Given the description of an element on the screen output the (x, y) to click on. 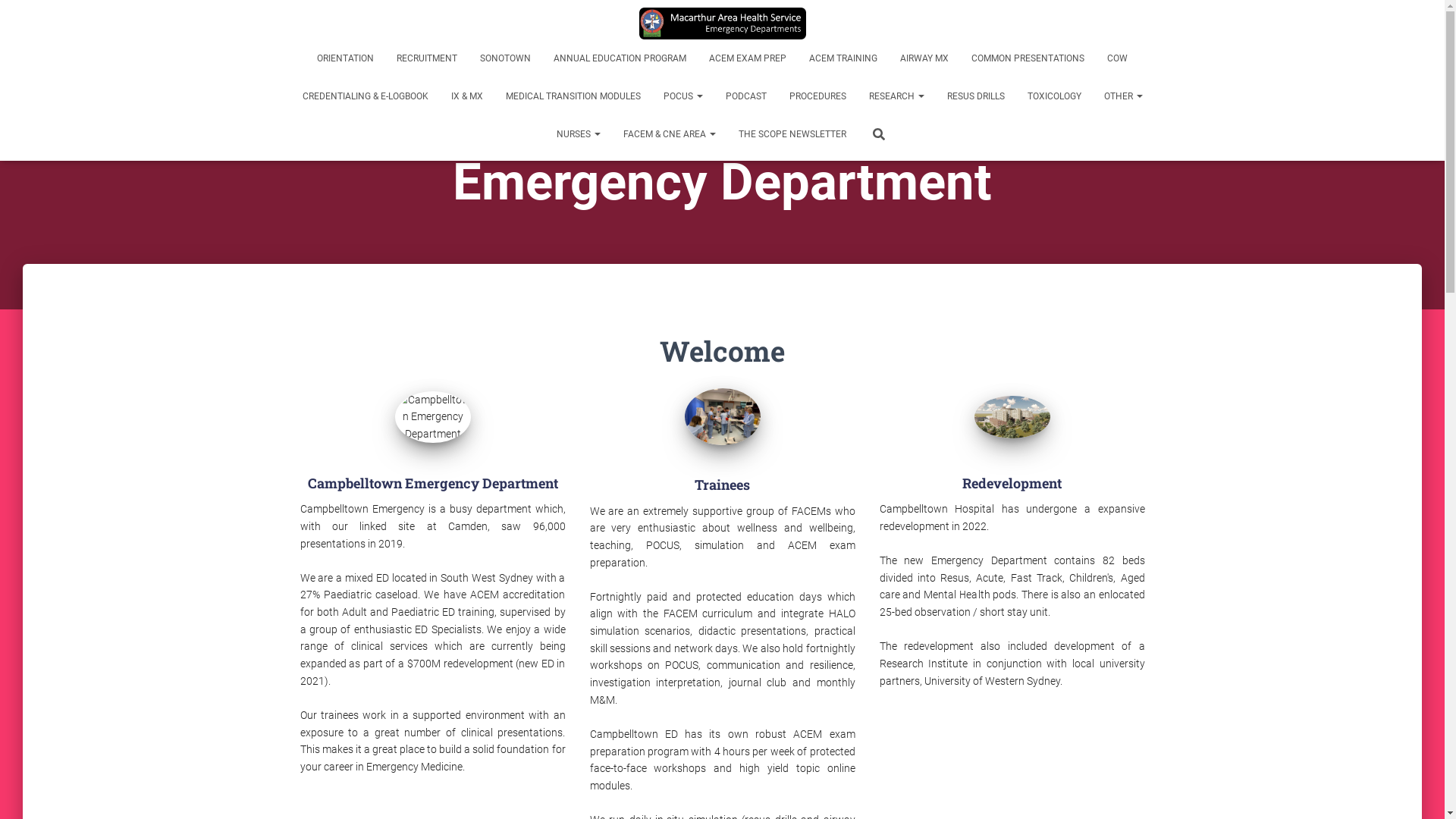
TOXICOLOGY Element type: text (1054, 96)
PODCAST Element type: text (746, 96)
MEDICAL TRANSITION MODULES Element type: text (573, 96)
ACEM EXAM PREP Element type: text (747, 58)
ANNUAL EDUCATION PROGRAM Element type: text (619, 58)
ORIENTATION Element type: text (345, 58)
OTHER Element type: text (1122, 96)
RESUS DRILLS Element type: text (975, 96)
SONOTOWN Element type: text (505, 58)
AIRWAY MX Element type: text (924, 58)
Campbelltown Emergency Department Element type: hover (432, 416)
FACEM & CNE AREA Element type: text (669, 134)
Trainees Element type: hover (721, 416)
PROCEDURES Element type: text (817, 96)
RESEARCH Element type: text (895, 96)
RECRUITMENT Element type: text (426, 58)
Redevelopment Element type: hover (1011, 416)
Search Element type: text (17, 16)
COW Element type: text (1117, 58)
COMMON PRESENTATIONS Element type: text (1027, 58)
POCUS Element type: text (683, 96)
NURSES Element type: text (578, 134)
Campbelltown Emergency Department Element type: hover (722, 23)
CREDENTIALING & E-LOGBOOK Element type: text (365, 96)
ACEM TRAINING Element type: text (842, 58)
IX & MX Element type: text (466, 96)
THE SCOPE NEWSLETTER Element type: text (792, 134)
